Given the description of an element on the screen output the (x, y) to click on. 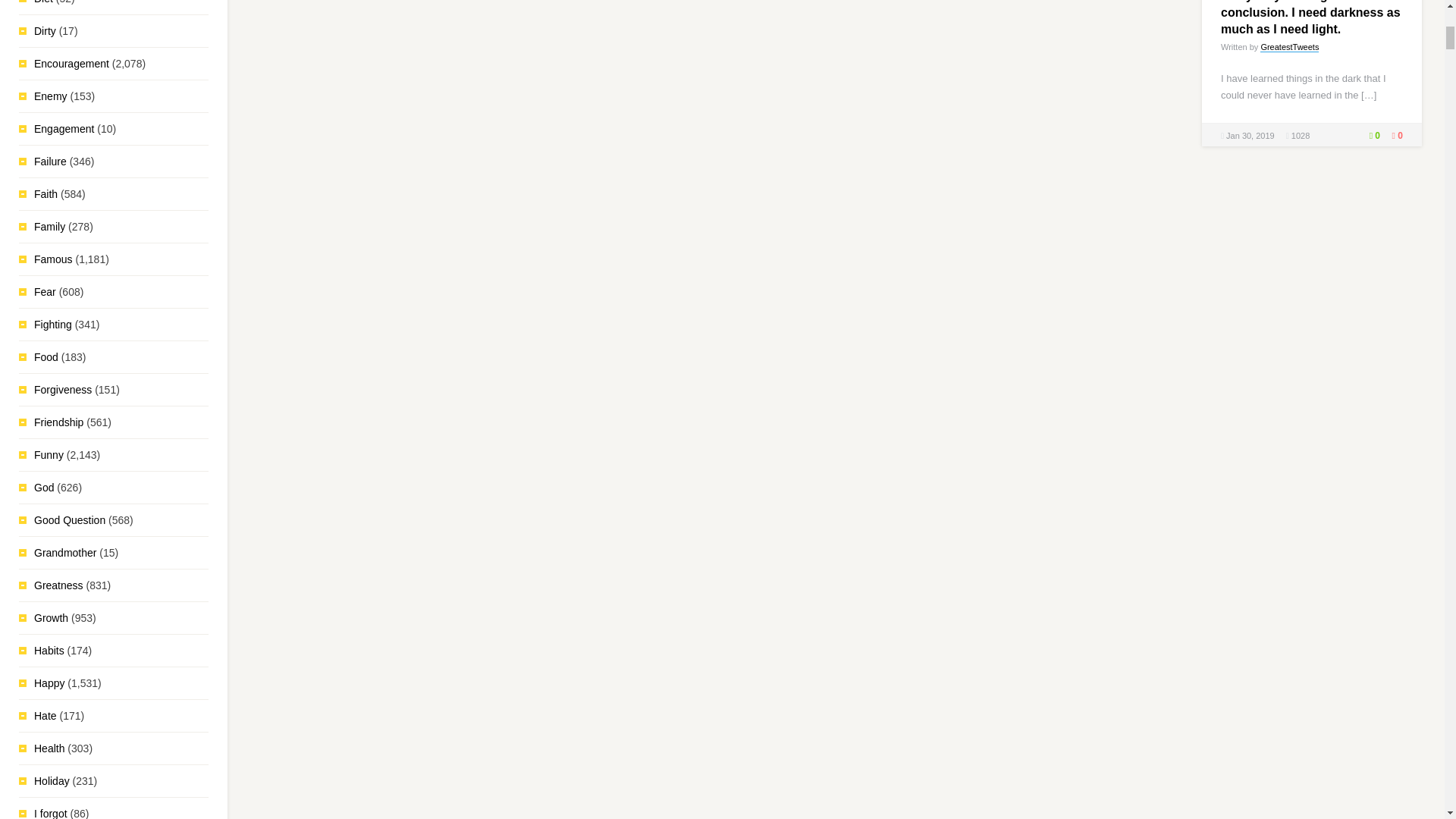
Encouragement (71, 63)
Diet (42, 2)
Enemy (49, 96)
Engagement (63, 128)
Dirty (44, 30)
